Given the description of an element on the screen output the (x, y) to click on. 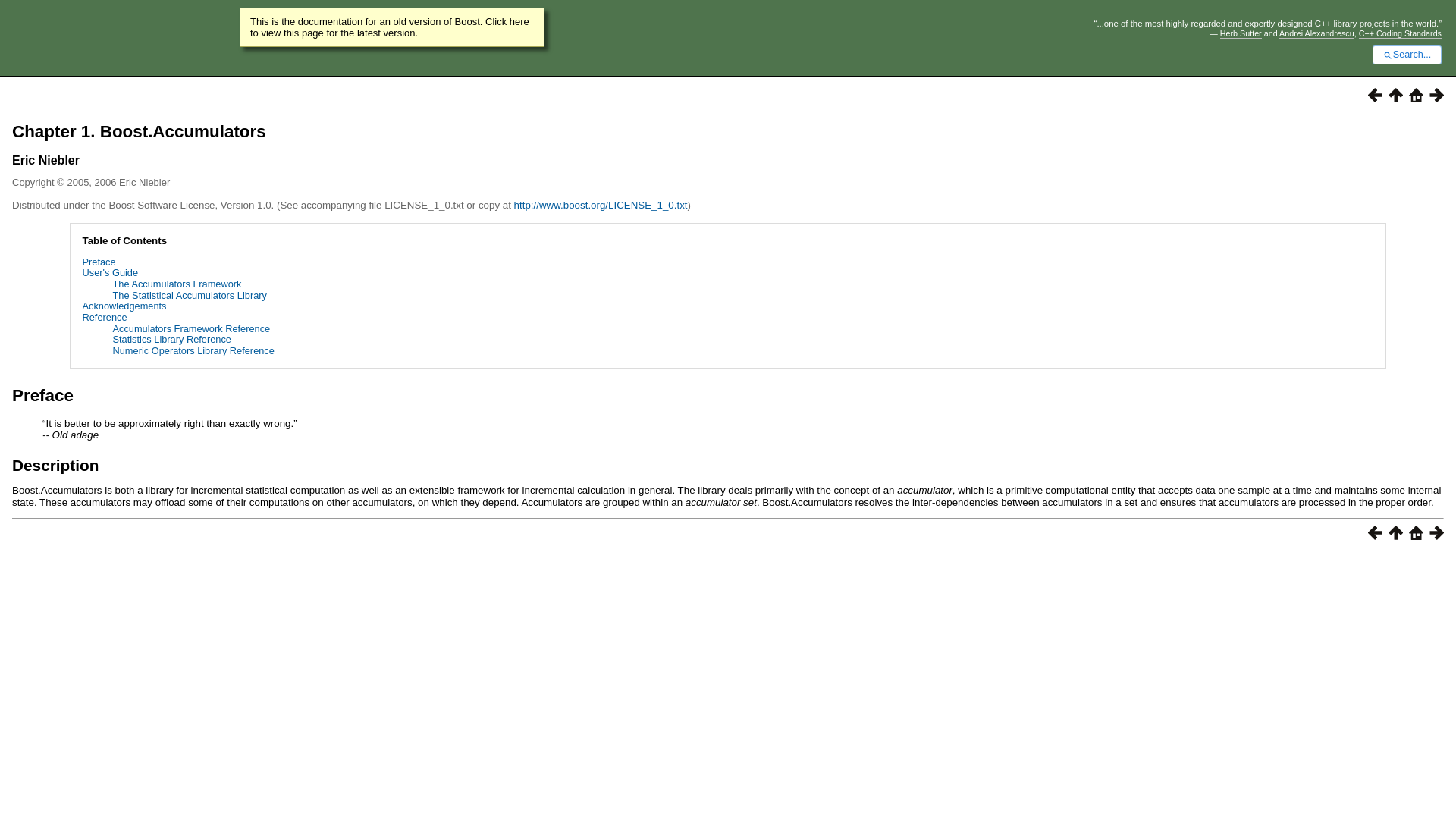
Preface (42, 394)
Description (55, 465)
Herb Sutter (1241, 33)
Reference (105, 317)
The Statistical Accumulators Library (189, 295)
Acknowledgements (124, 306)
The Accumulators Framework (177, 283)
Andrei Alexandrescu (1316, 33)
Preface (99, 261)
Accumulators Framework Reference (191, 328)
Preface (42, 394)
User's Guide (110, 272)
Statistics Library Reference (172, 338)
Numeric Operators Library Reference (194, 350)
